Given the description of an element on the screen output the (x, y) to click on. 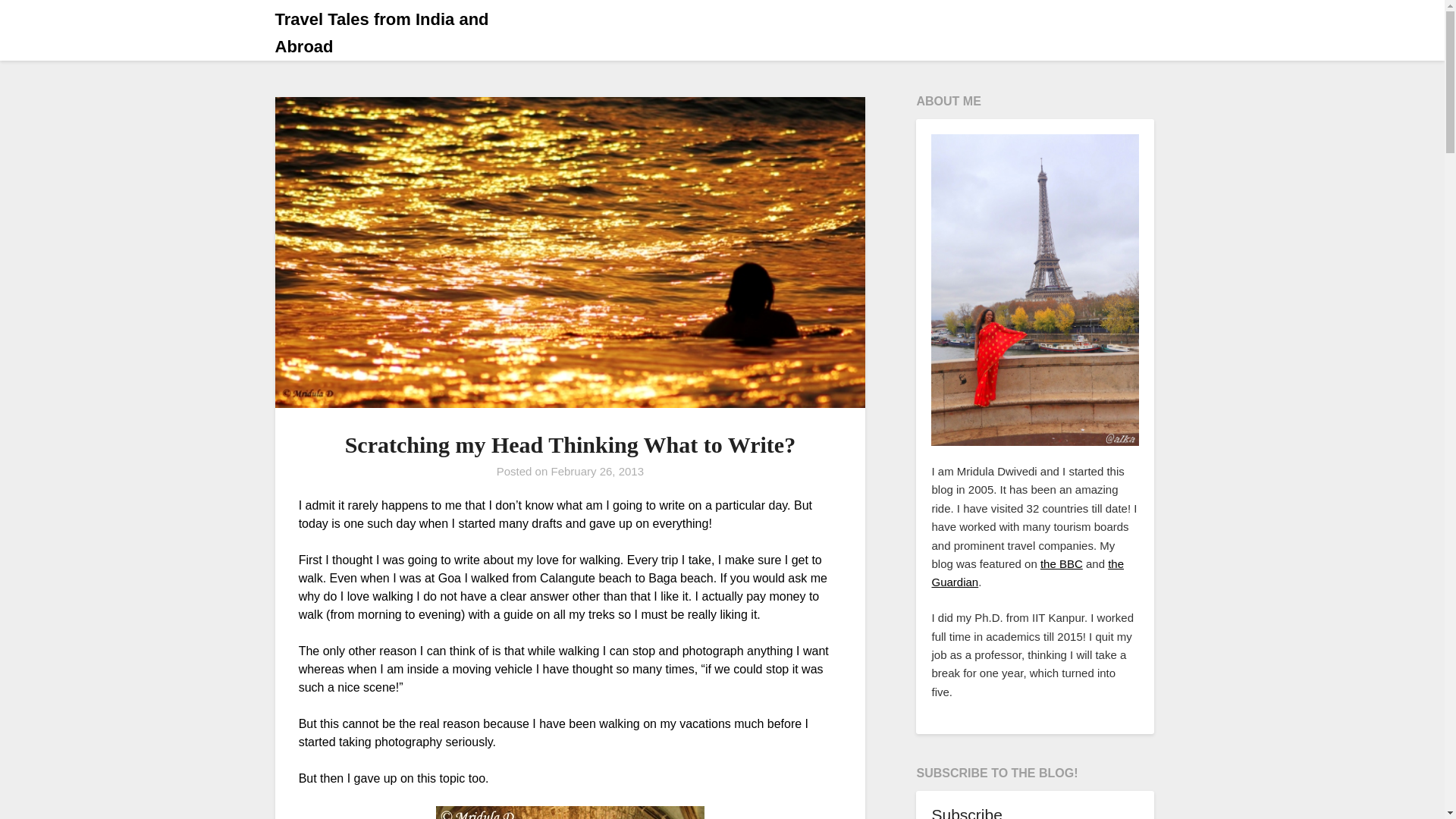
the Guardian (1027, 572)
Travel Tales from India and Abroad (409, 32)
the BBC (1062, 563)
February 26, 2013 (596, 471)
